Given the description of an element on the screen output the (x, y) to click on. 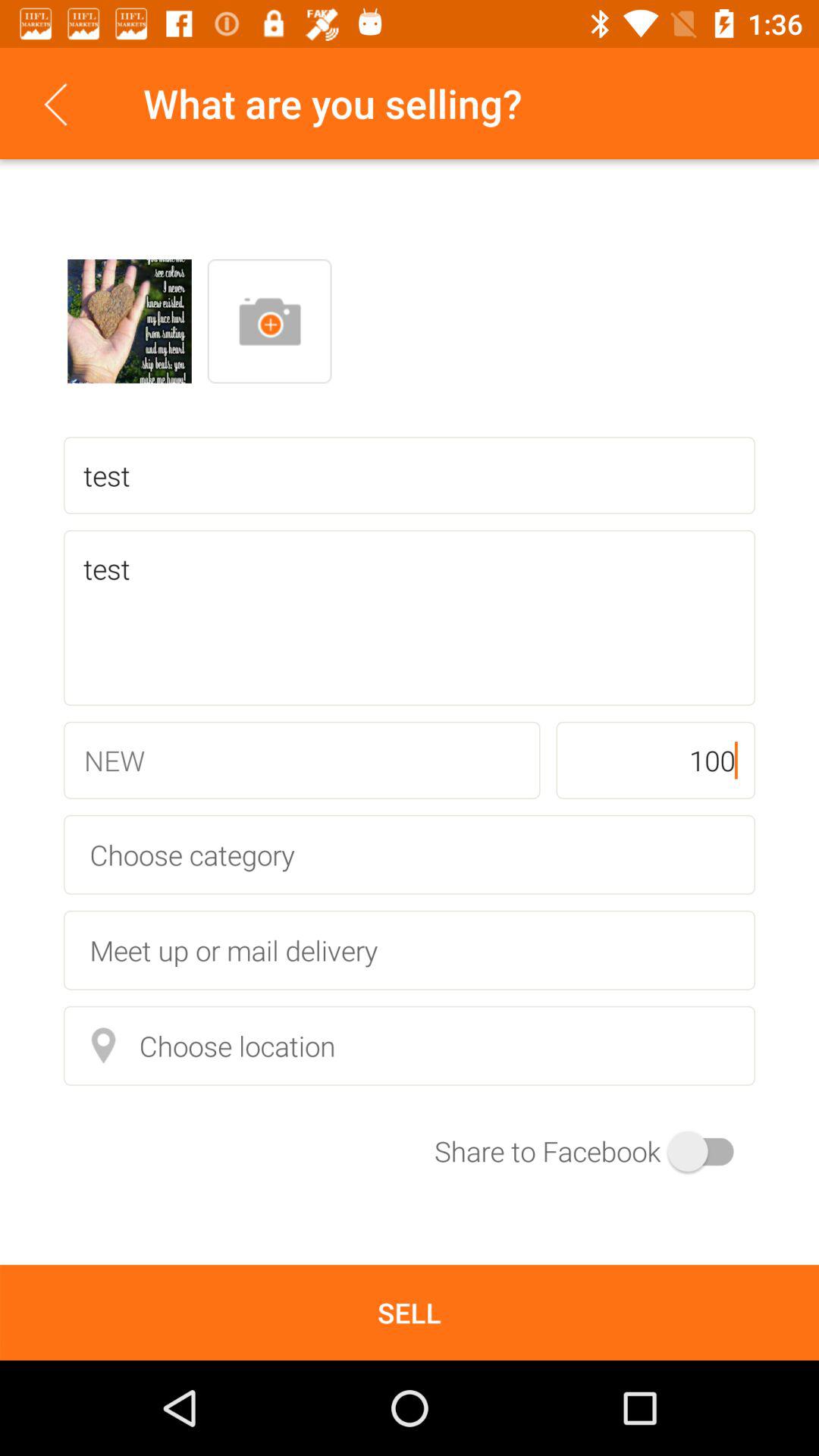
flip until the share to facebook (594, 1151)
